Given the description of an element on the screen output the (x, y) to click on. 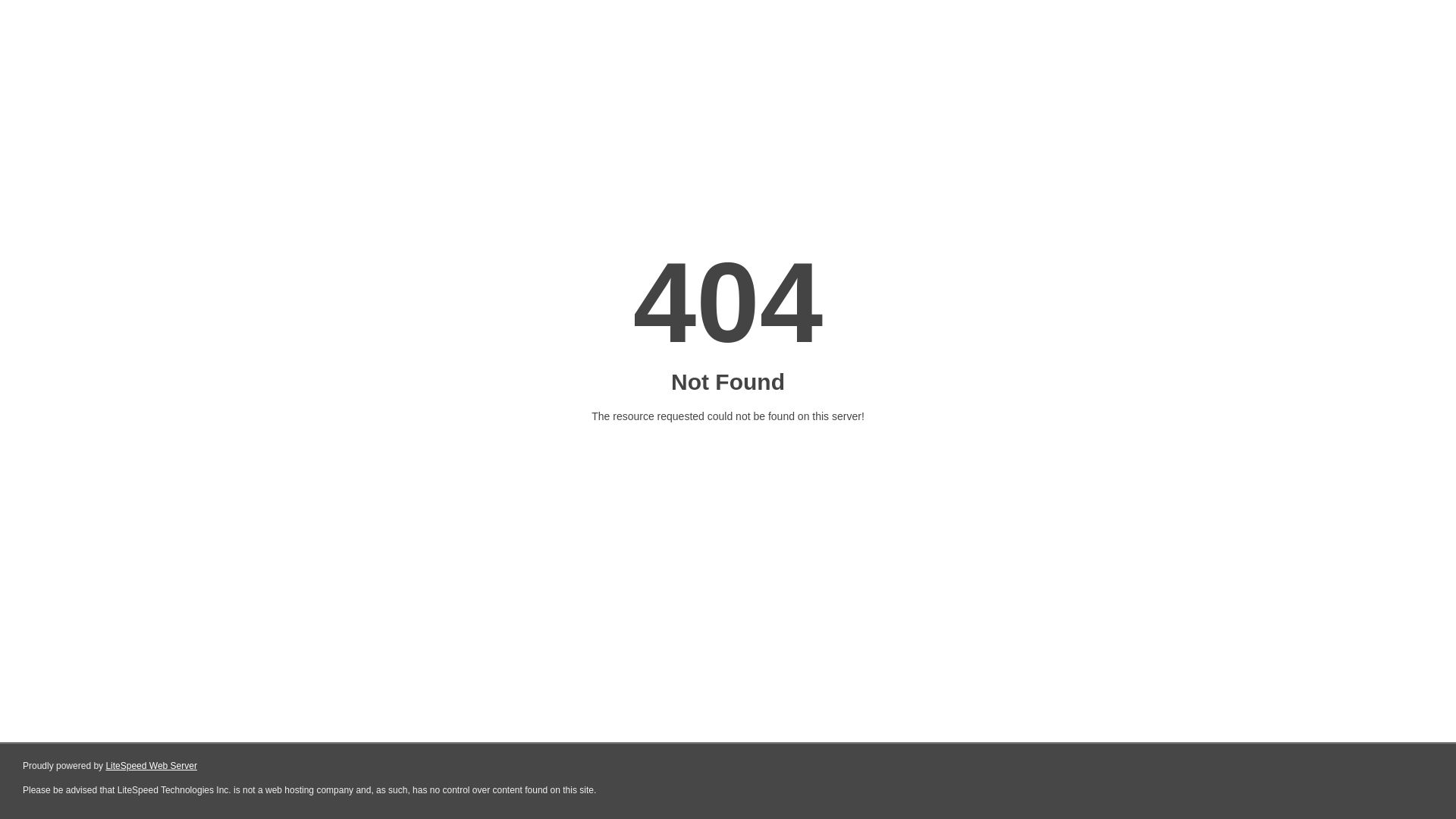
LiteSpeed Web Server Element type: text (151, 765)
